Given the description of an element on the screen output the (x, y) to click on. 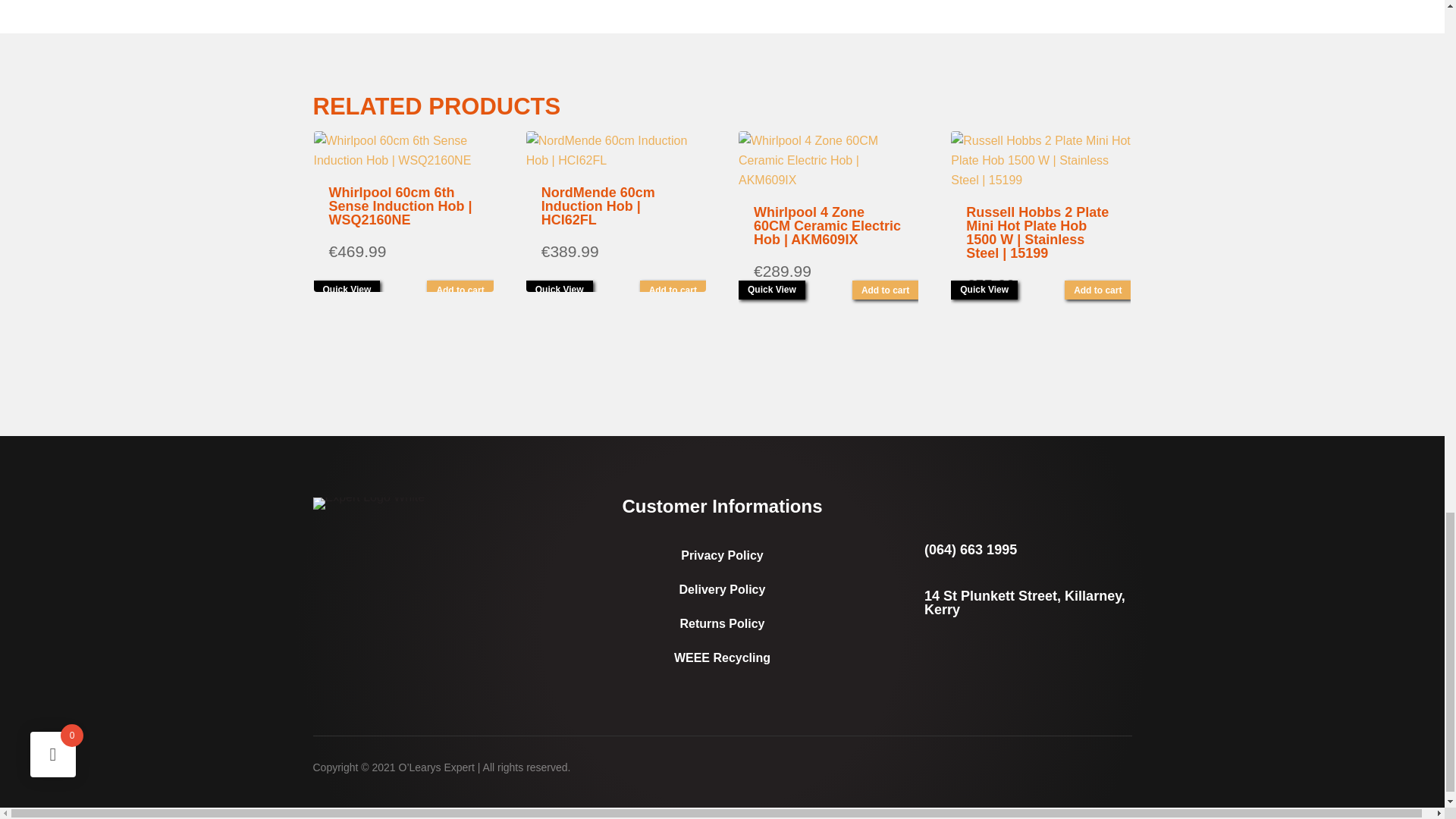
expert-logo-white (369, 503)
